Given the description of an element on the screen output the (x, y) to click on. 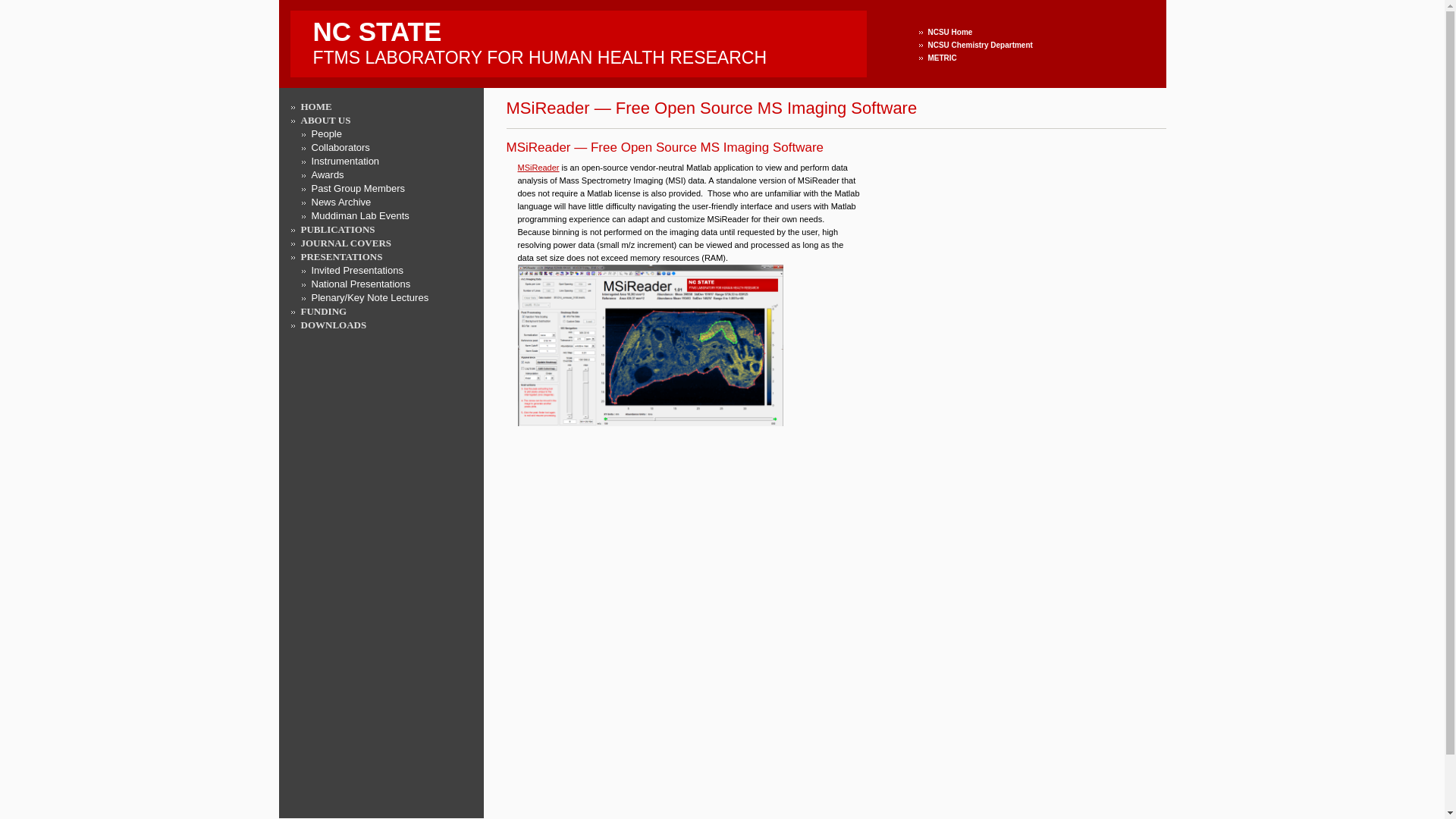
News Archive (341, 202)
Invited Presentations (357, 270)
People (325, 133)
METRIC (942, 58)
Instrumentation (344, 161)
PUBLICATIONS (336, 229)
Awards (327, 174)
NCSU Home (950, 31)
HOME (578, 40)
